Given the description of an element on the screen output the (x, y) to click on. 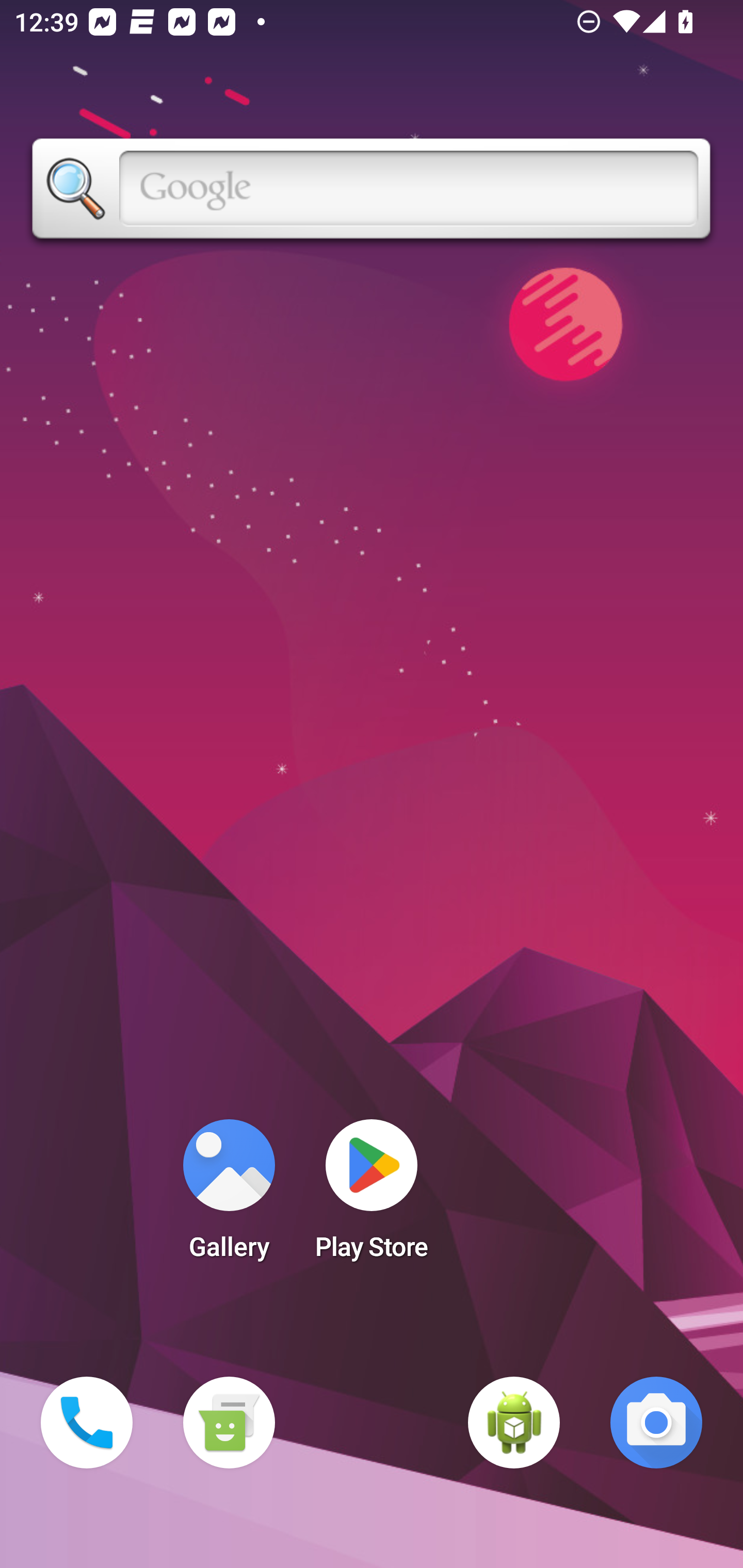
Gallery (228, 1195)
Play Store (371, 1195)
Phone (86, 1422)
Messaging (228, 1422)
WebView Browser Tester (513, 1422)
Camera (656, 1422)
